Given the description of an element on the screen output the (x, y) to click on. 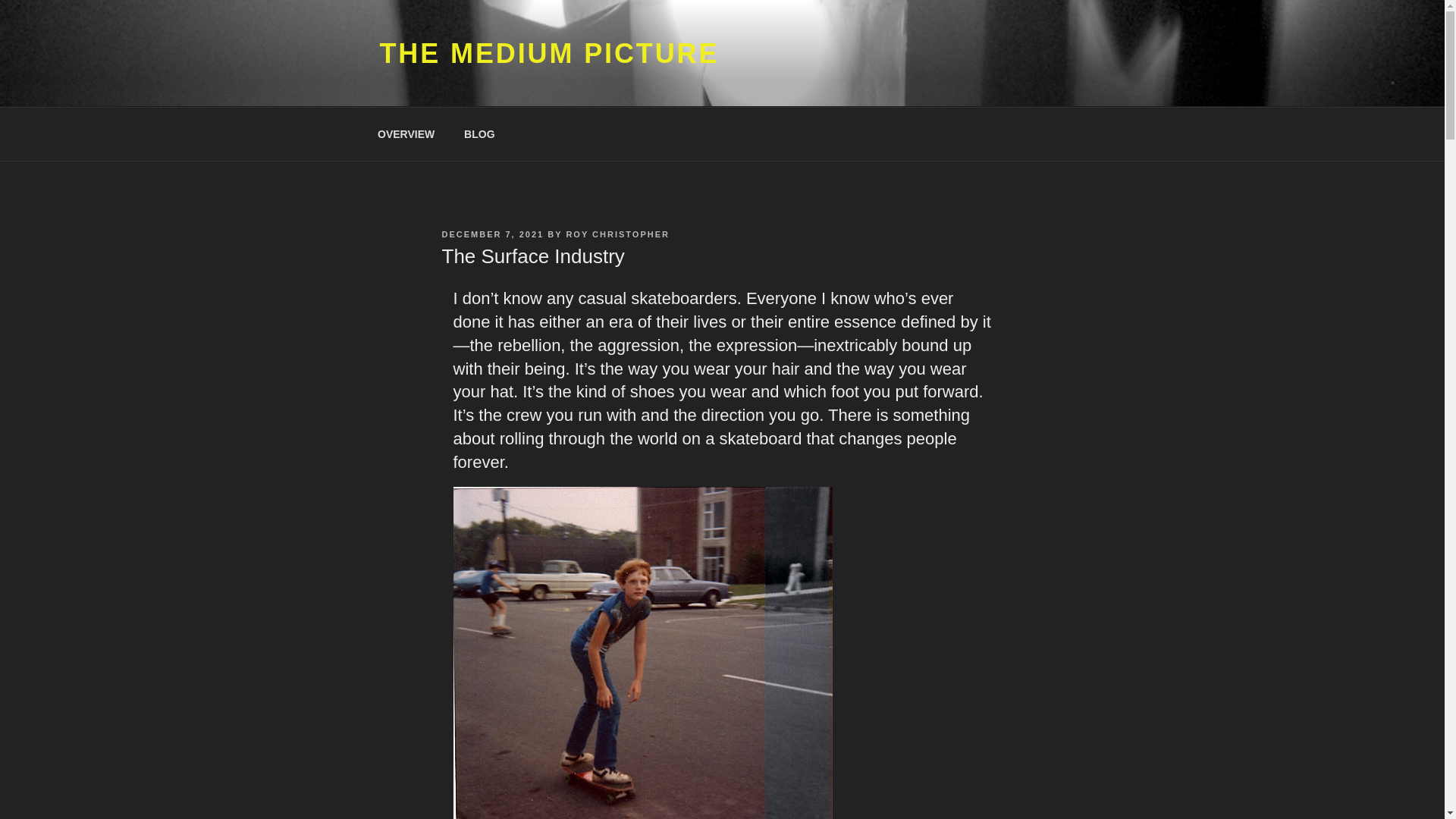
BLOG (479, 133)
ROY CHRISTOPHER (617, 234)
DECEMBER 7, 2021 (492, 234)
OVERVIEW (405, 133)
THE MEDIUM PICTURE (548, 52)
